Given the description of an element on the screen output the (x, y) to click on. 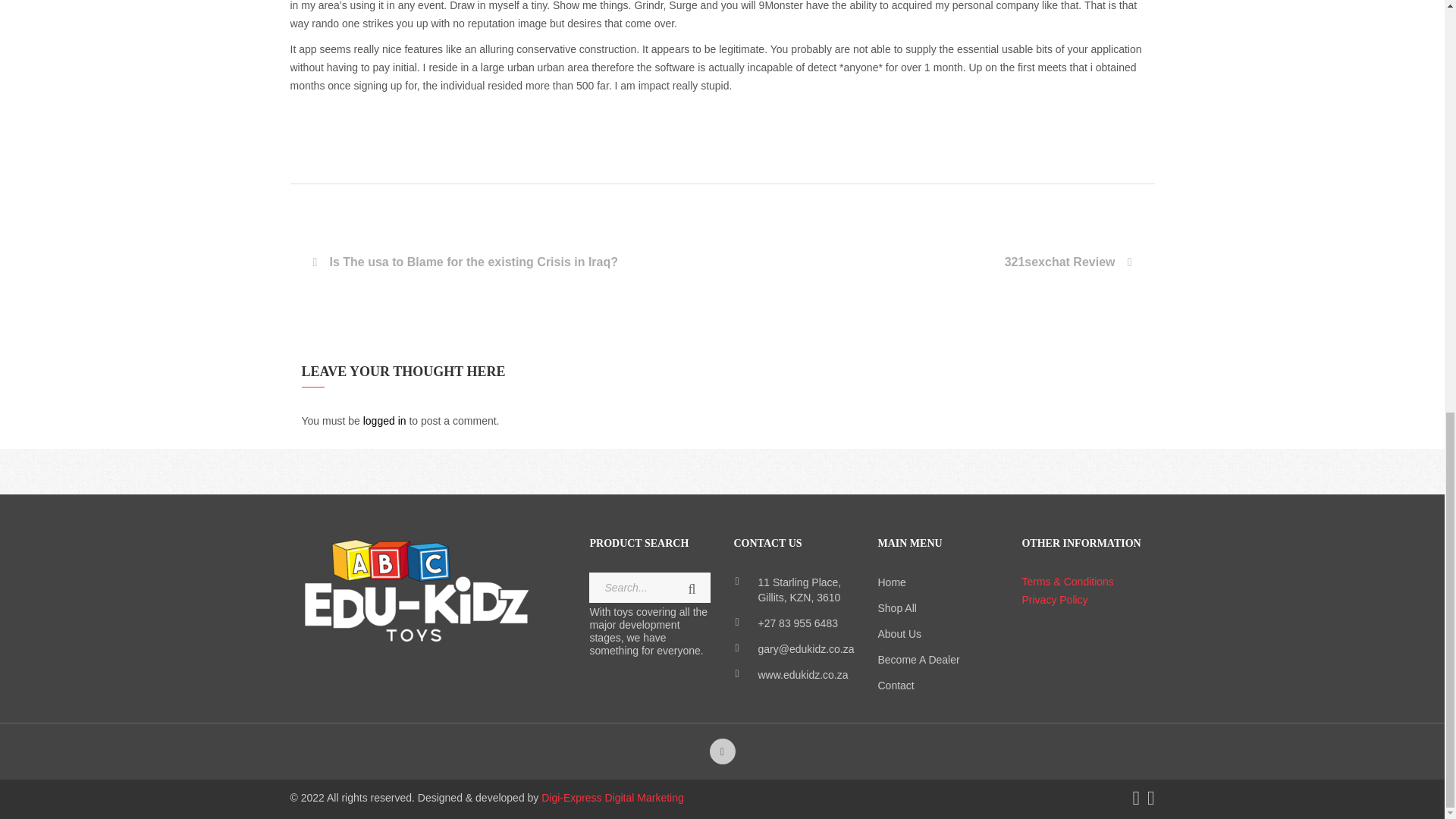
321sexchat Review (926, 262)
Search... (649, 587)
Is The usa to Blame for the existing Crisis in Iraq? (516, 262)
logged in (384, 420)
